Given the description of an element on the screen output the (x, y) to click on. 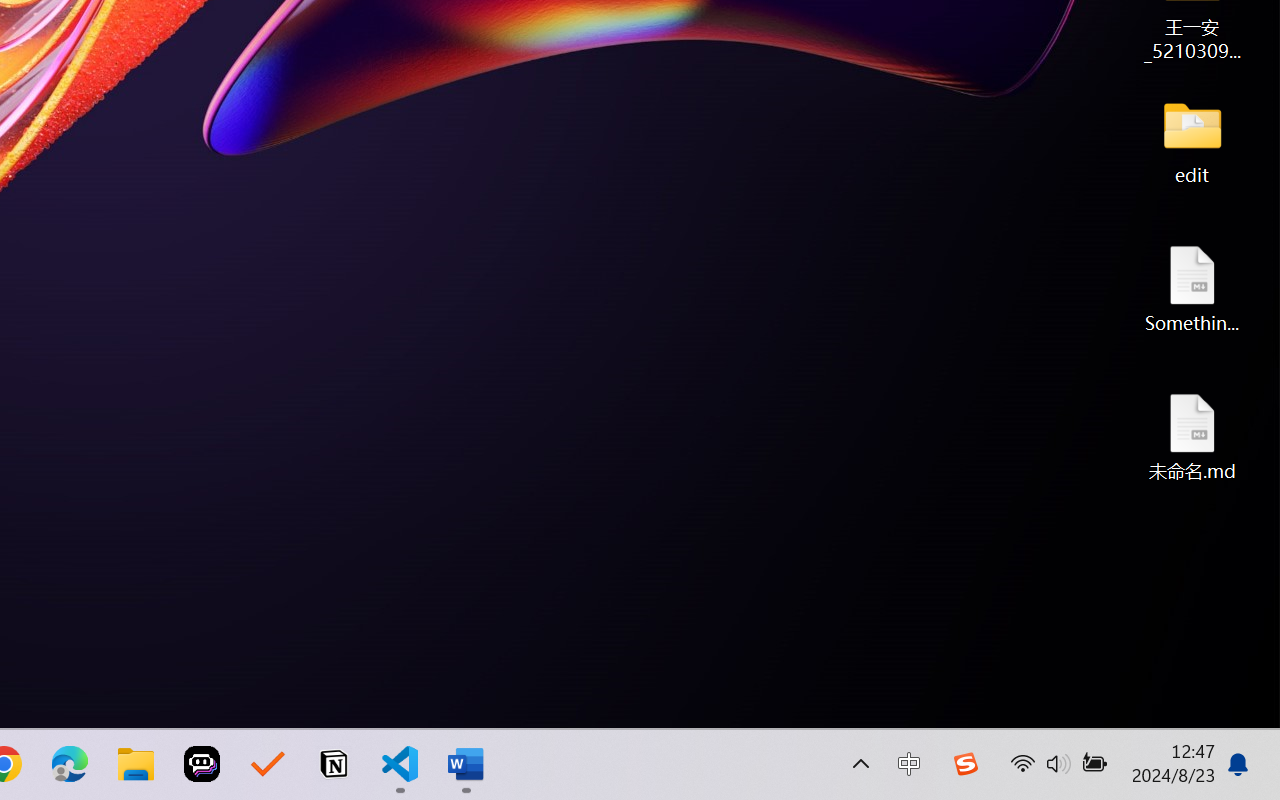
Something.md (1192, 288)
Microsoft Edge (69, 764)
edit (1192, 140)
